Given the description of an element on the screen output the (x, y) to click on. 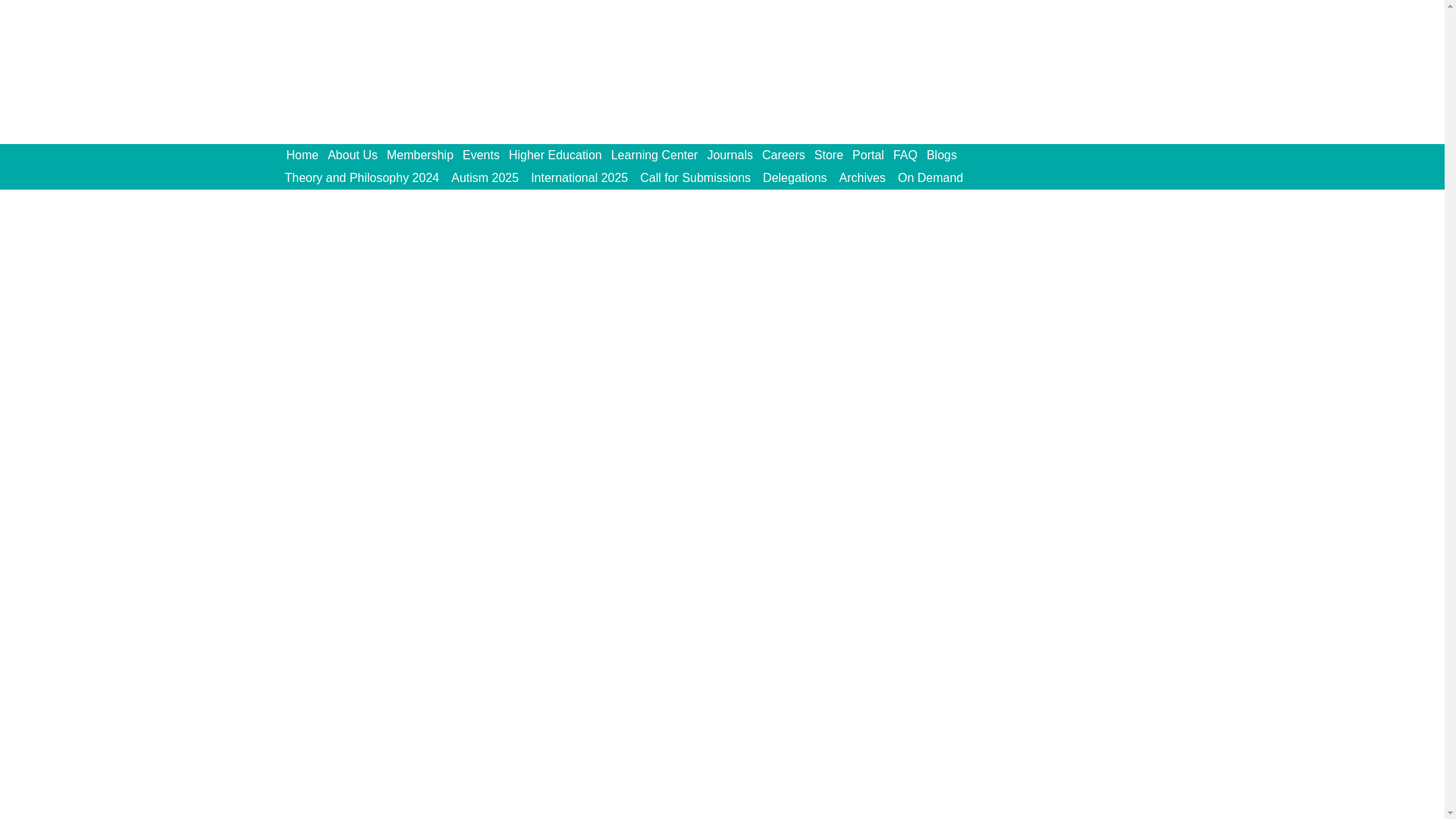
Journals (733, 155)
Portal (872, 155)
International 2025 (578, 178)
FAQ (909, 155)
Call for Submissions (695, 178)
Theory and Philosophy 2024 (362, 178)
Blogs (946, 155)
Archives (861, 178)
Home (307, 155)
Delegations (794, 178)
